Given the description of an element on the screen output the (x, y) to click on. 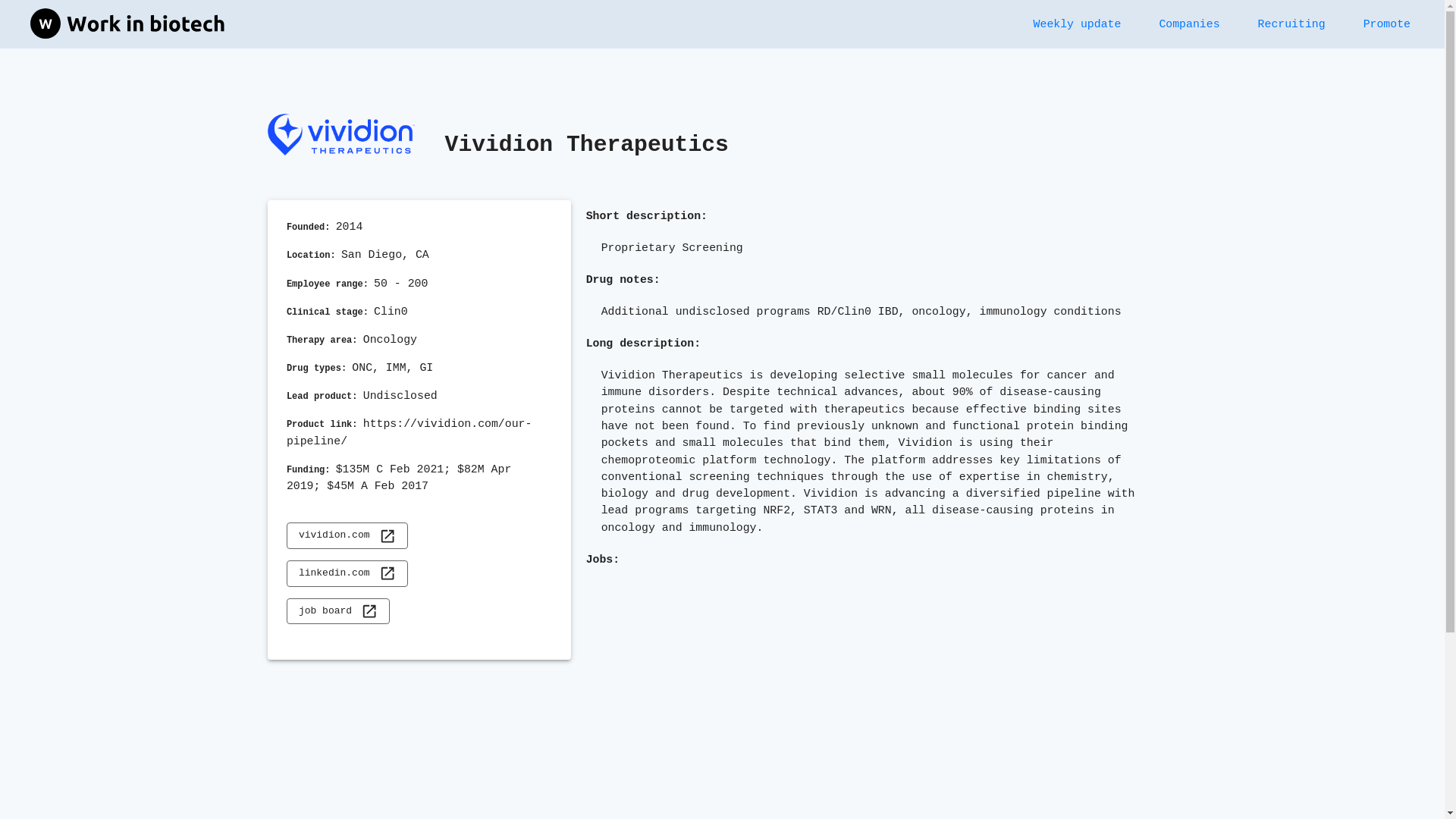
Promote (1386, 24)
Weekly update (1077, 24)
Recruiting (1290, 24)
job board (338, 611)
vividion.com (346, 535)
Companies (1189, 24)
linkedin.com (346, 573)
